Given the description of an element on the screen output the (x, y) to click on. 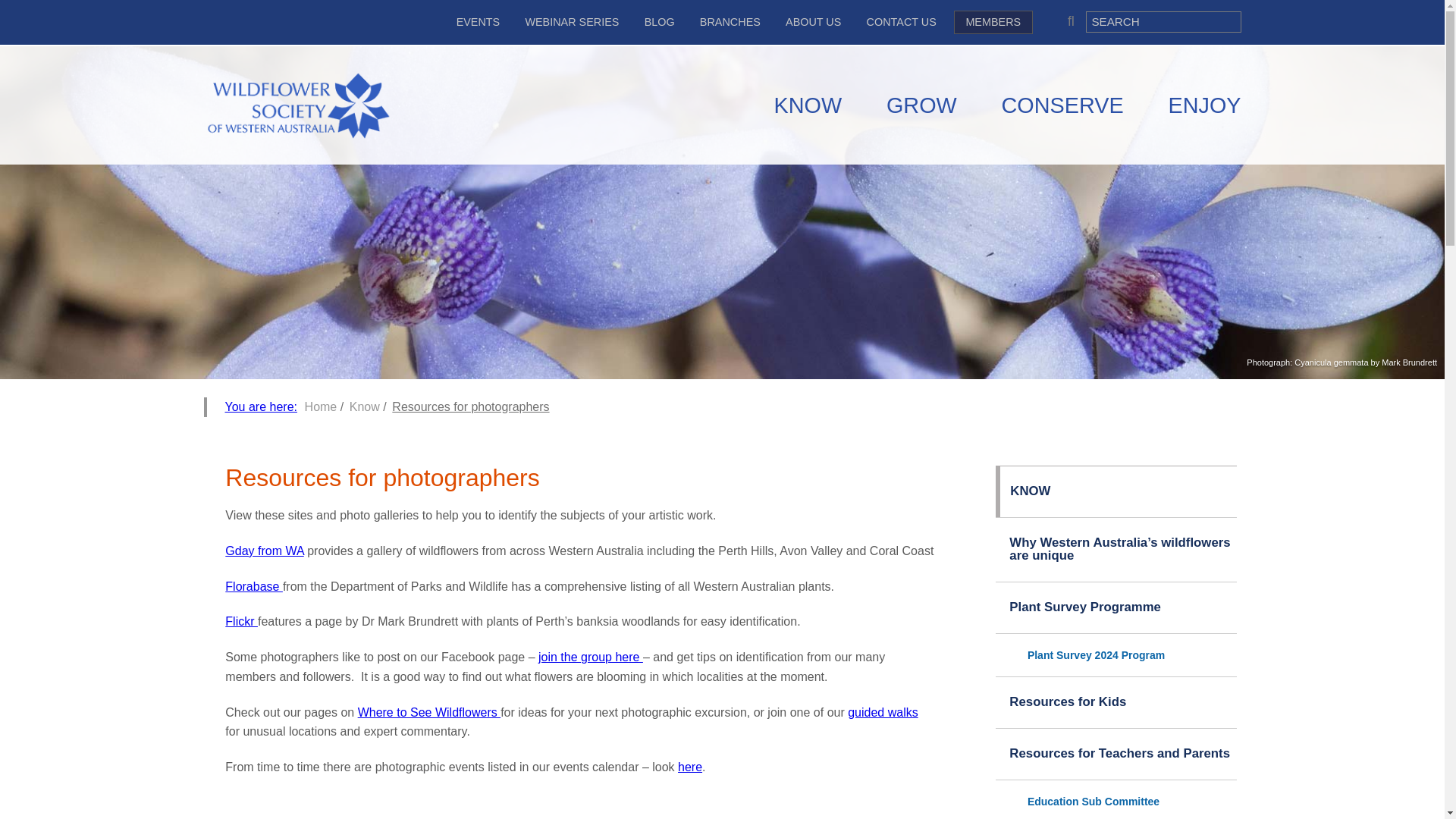
BRANCHES (729, 21)
CONTACT US (901, 21)
Know (364, 406)
Wildflower Society of Western Australia (297, 106)
MEMBERS (992, 22)
Search for: (1163, 21)
ABOUT US (812, 21)
EVENTS (478, 21)
BLOG (659, 21)
WEBINAR SERIES (571, 21)
